Given the description of an element on the screen output the (x, y) to click on. 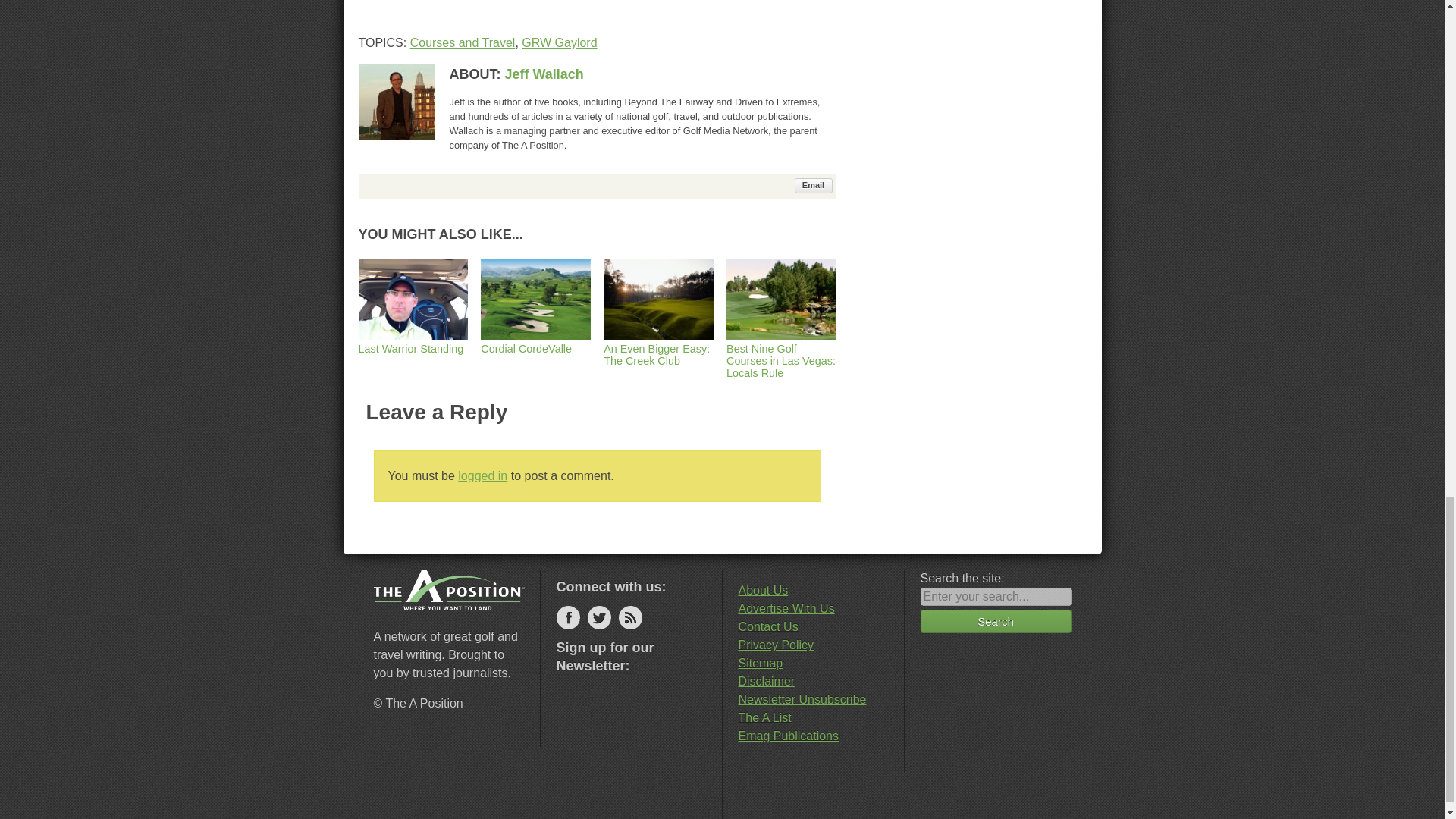
Last Warrior Standing (412, 341)
Best Nine Golf Courses in Las Vegas: Locals Rule (780, 354)
Email (813, 185)
Cordial CordeValle (534, 341)
Last Warrior Standing (412, 341)
Courses and Travel (462, 42)
GRW Gaylord (558, 42)
Search (995, 621)
Best Nine Golf Courses in Las Vegas: Locals Rule (780, 354)
An Even Bigger Easy: The Creek Club (658, 348)
